Given the description of an element on the screen output the (x, y) to click on. 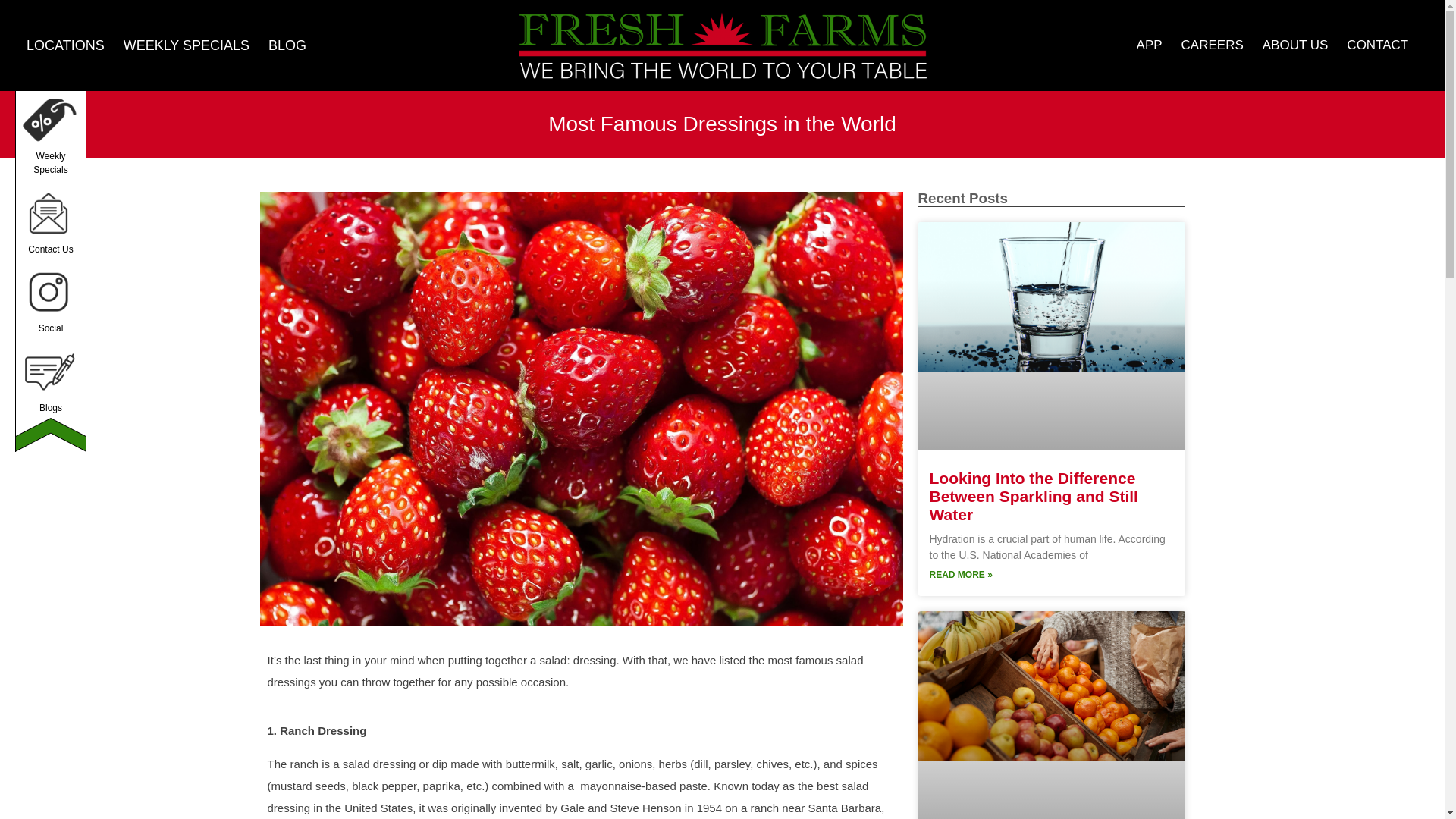
Social (50, 228)
CAREERS (1211, 1)
Blogs (50, 310)
Contact Us (50, 143)
CONTACT (1376, 4)
Weekly Specials (50, 55)
ABOUT US (1294, 2)
